Given the description of an element on the screen output the (x, y) to click on. 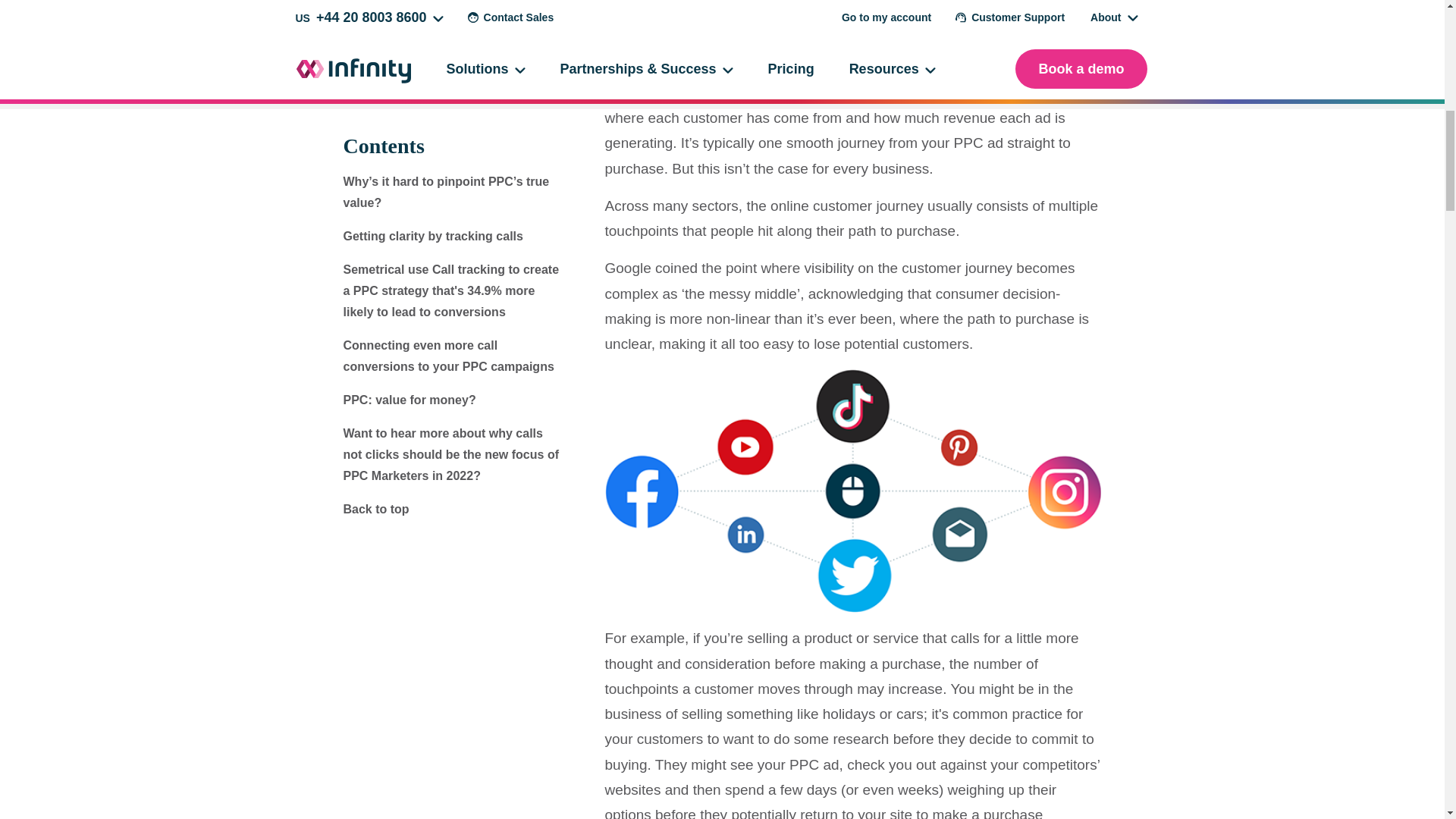
Getting clarity by tracking calls (432, 158)
Back to top (375, 431)
PPC: value for money? (409, 322)
Connecting even more call conversions to your PPC campaigns (447, 278)
